Given the description of an element on the screen output the (x, y) to click on. 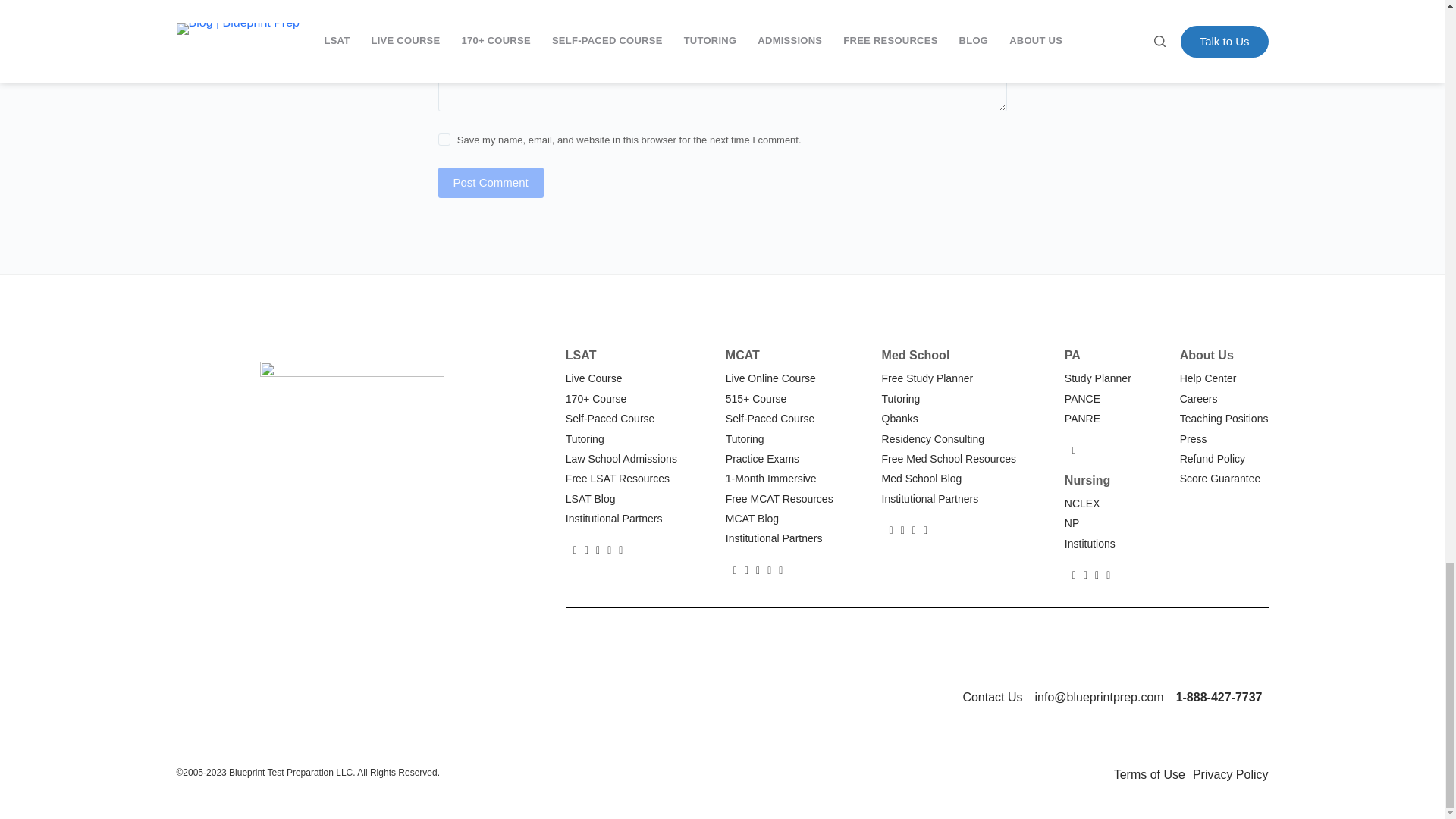
yes (443, 139)
